Given the description of an element on the screen output the (x, y) to click on. 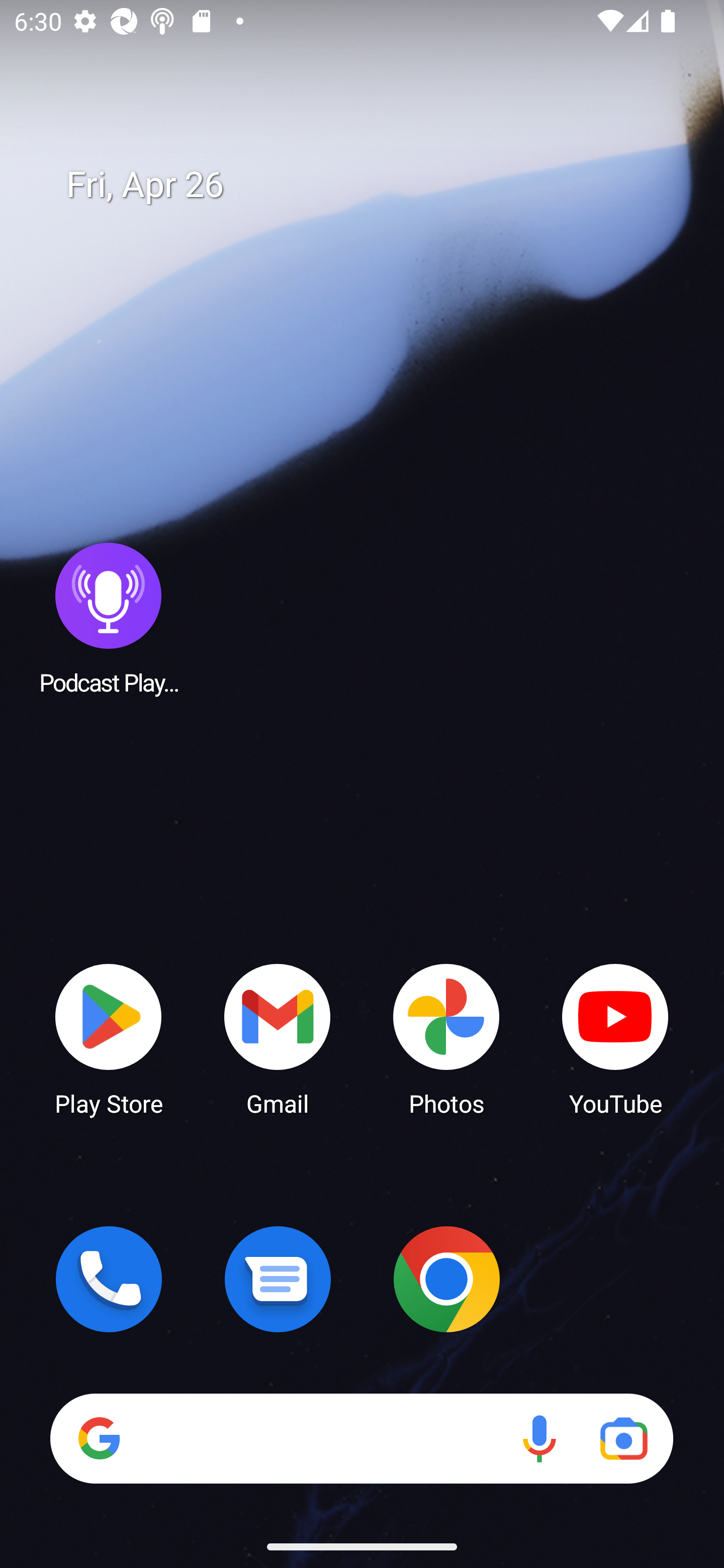
Fri, Apr 26 (375, 184)
Podcast Player (108, 617)
Play Store (108, 1038)
Gmail (277, 1038)
Photos (445, 1038)
YouTube (615, 1038)
Phone (108, 1279)
Messages (277, 1279)
Chrome (446, 1279)
Search Voice search Google Lens (361, 1438)
Voice search (539, 1438)
Google Lens (623, 1438)
